Given the description of an element on the screen output the (x, y) to click on. 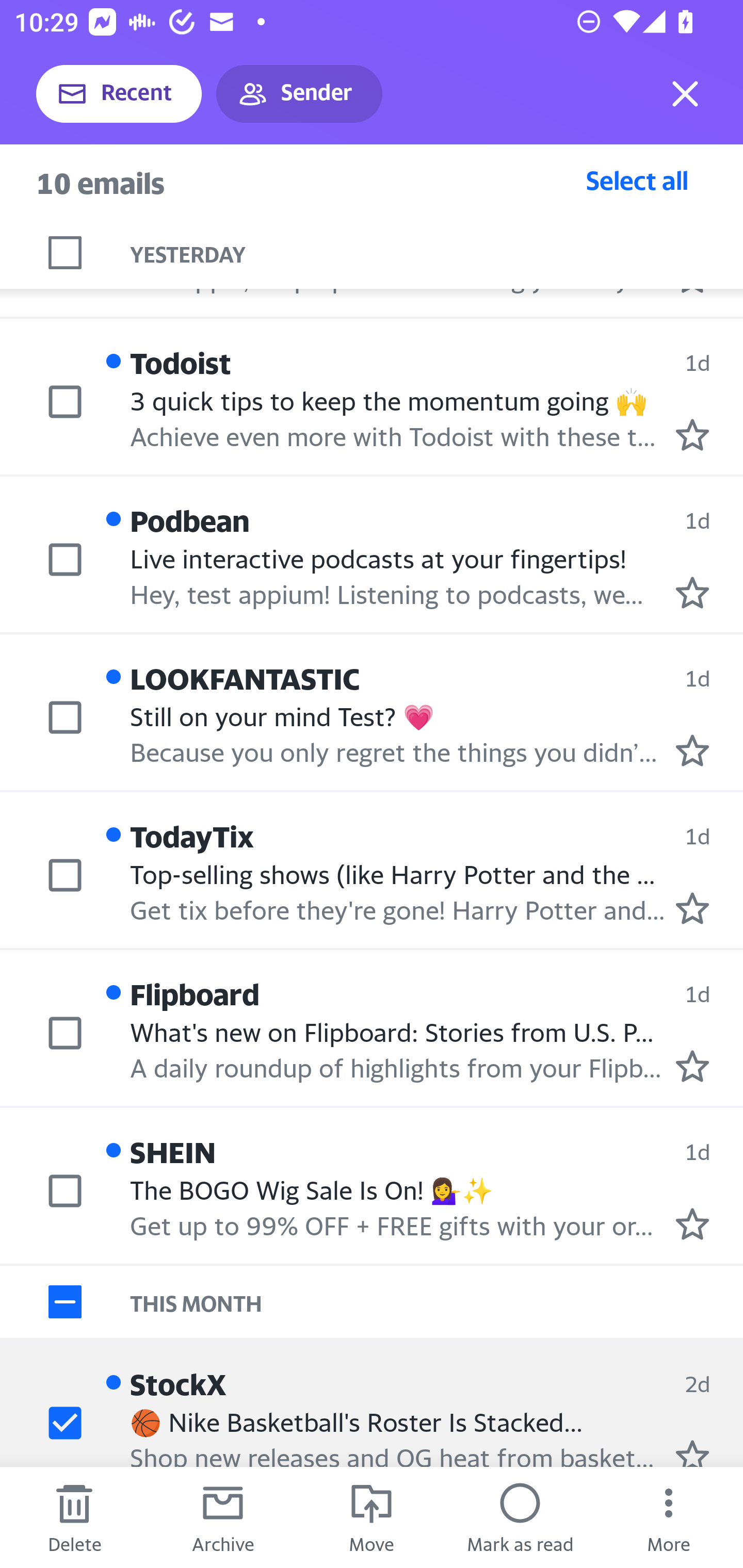
Sender (299, 93)
Exit selection mode (684, 93)
Select all (637, 180)
Mark as starred. (692, 435)
Mark as starred. (692, 591)
Mark as starred. (692, 750)
Mark as starred. (692, 908)
Mark as starred. (692, 1065)
Mark as starred. (692, 1223)
THIS MONTH (436, 1301)
Mark as starred. (692, 1452)
Delete (74, 1517)
Archive (222, 1517)
Move (371, 1517)
Mark as read (519, 1517)
More (668, 1517)
